Given the description of an element on the screen output the (x, y) to click on. 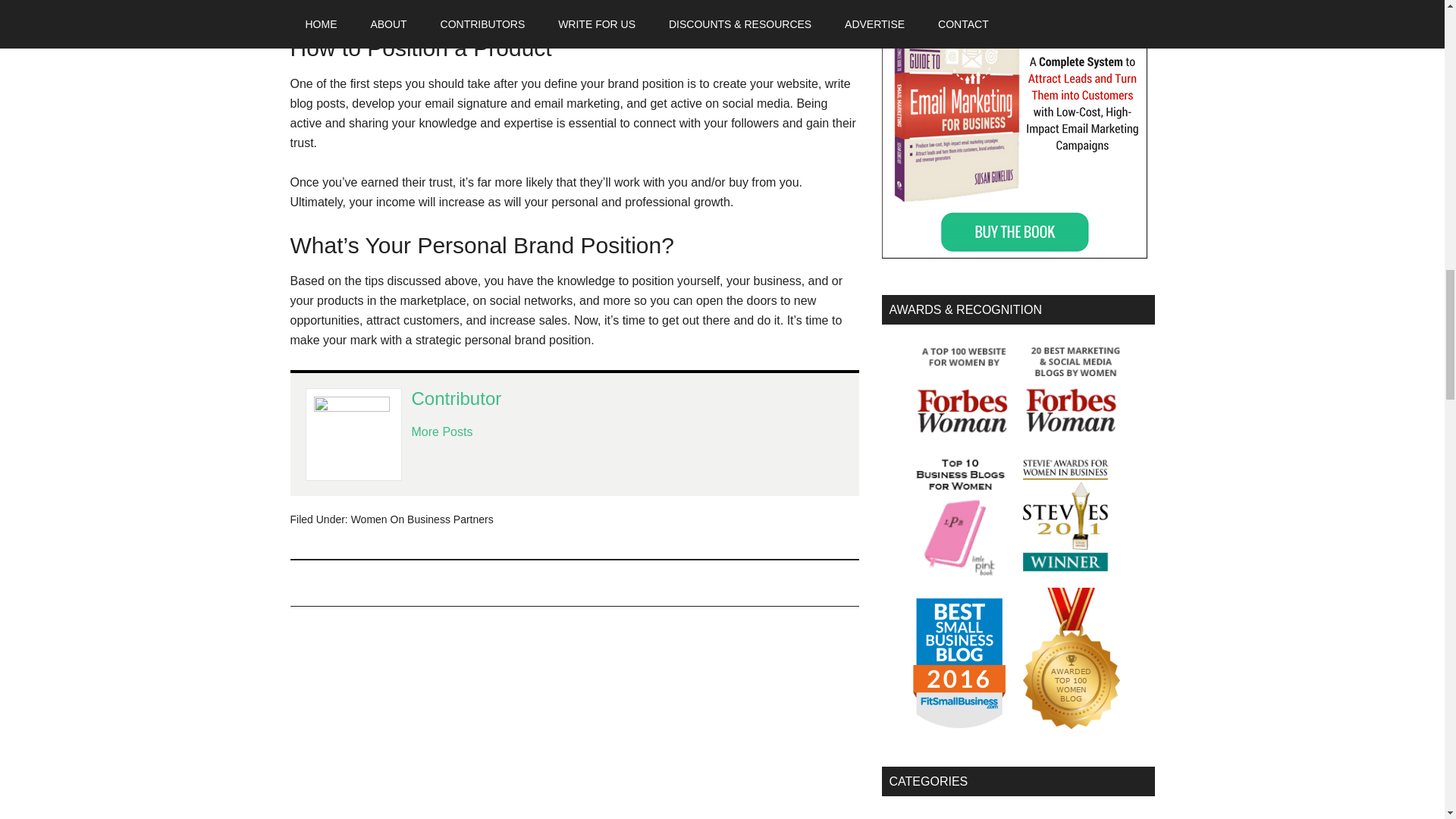
Women On Business Partners (421, 519)
Women blogs (1017, 781)
Board of Directors (929, 818)
Women blogs (1064, 725)
Contributor (455, 398)
Contributor (455, 398)
More Posts (440, 431)
More posts by Contributor (440, 431)
CATEGORIES (1017, 781)
